Given the description of an element on the screen output the (x, y) to click on. 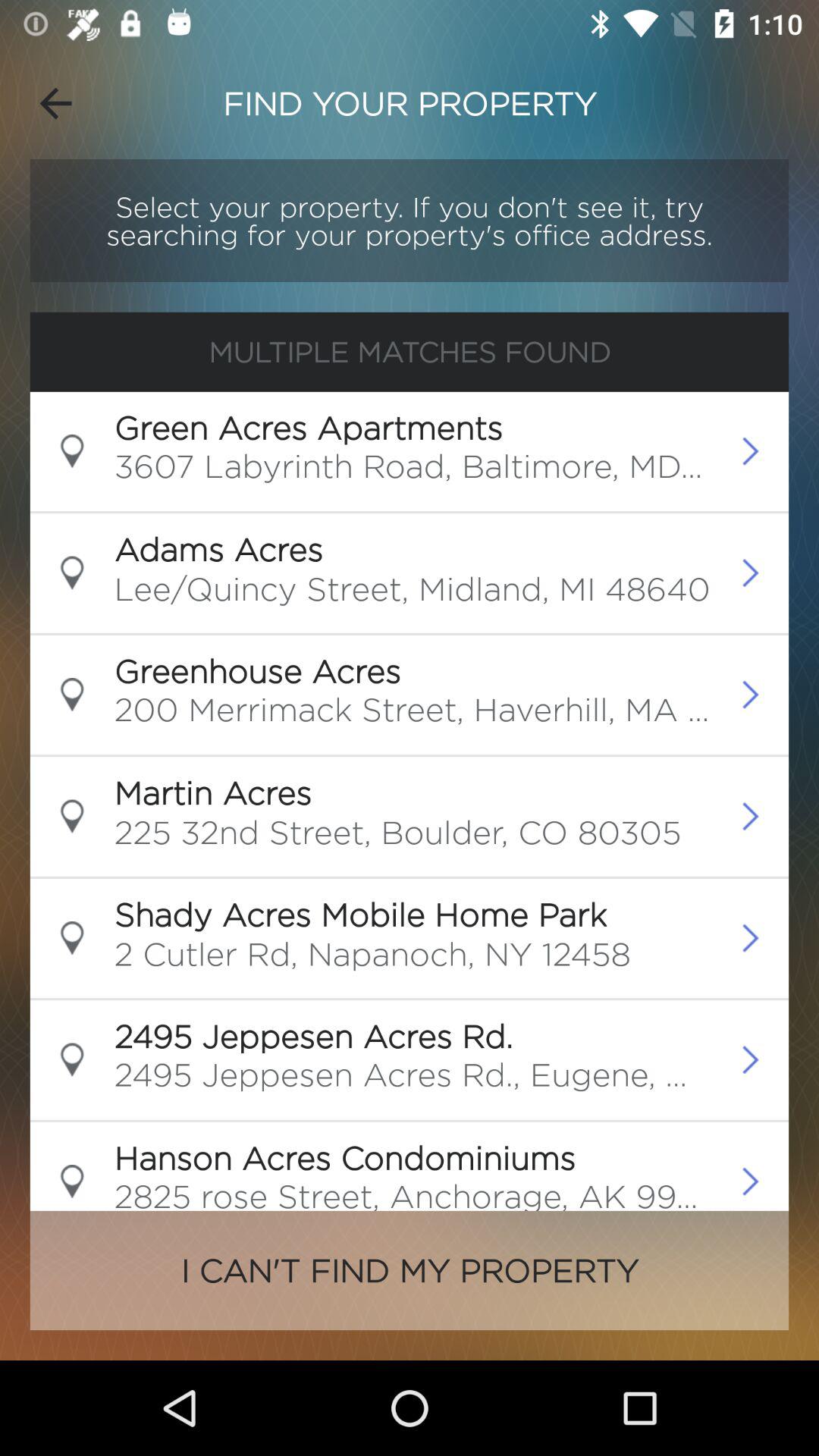
open the app above the adams acres app (413, 471)
